Given the description of an element on the screen output the (x, y) to click on. 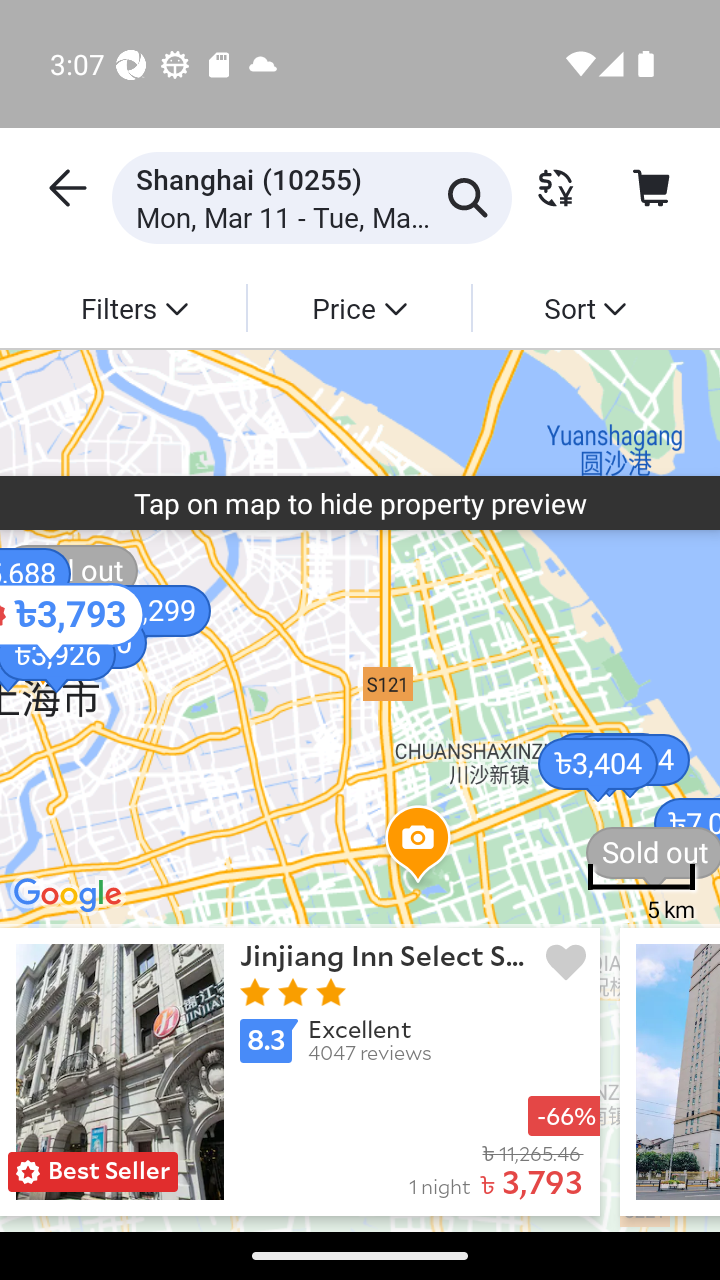
Filters (134, 307)
Price (358, 307)
Sort (584, 307)
